Given the description of an element on the screen output the (x, y) to click on. 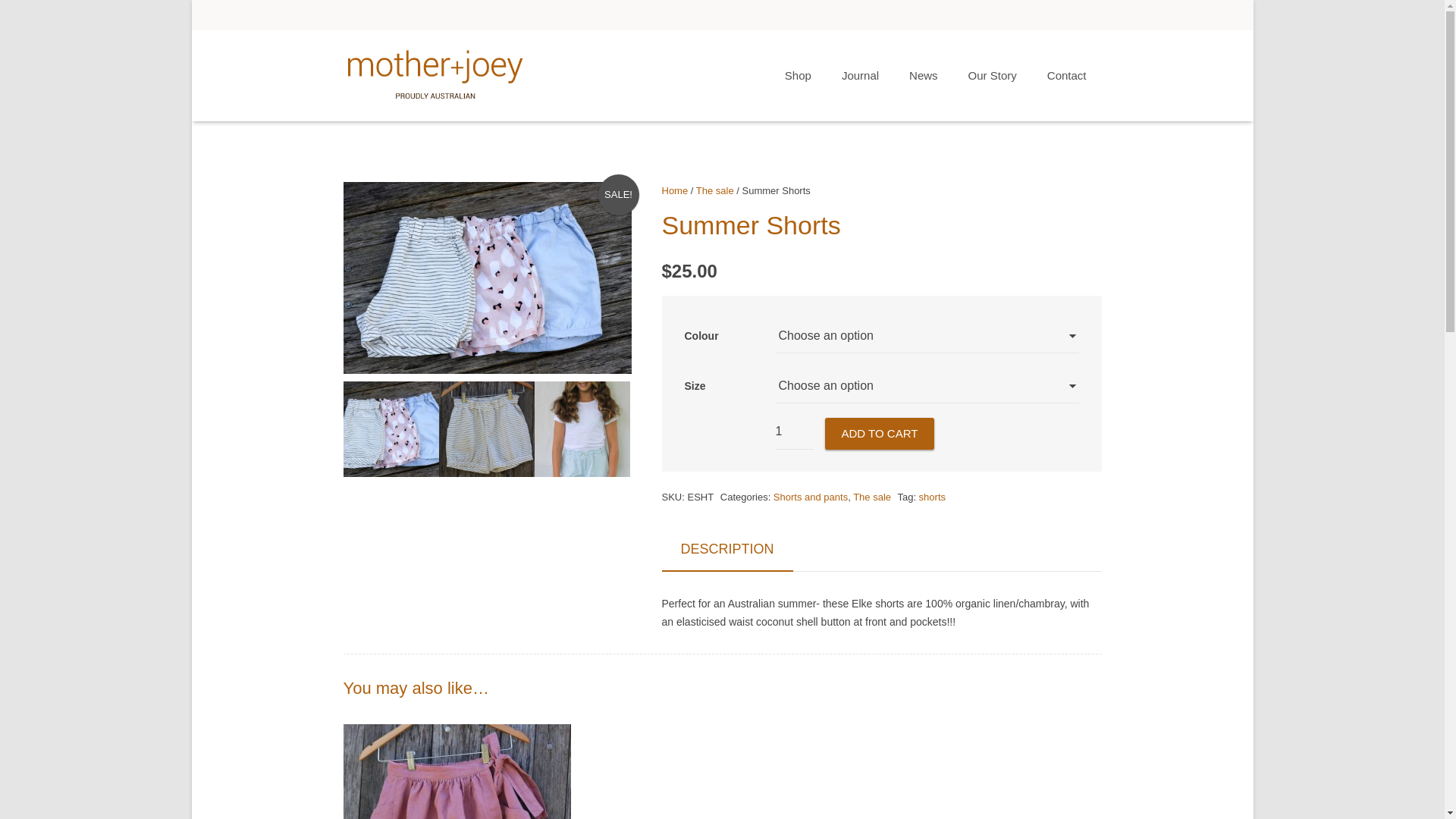
The sale Element type: text (872, 496)
News Element type: text (923, 75)
sshorts Element type: hover (486, 277)
Journal Element type: text (860, 75)
sshorts Element type: hover (390, 428)
Contact Element type: text (1066, 75)
Our Story Element type: text (992, 75)
The sale Element type: text (715, 190)
IMG_0195 Element type: hover (485, 428)
Home Element type: text (674, 190)
Shorts and pants Element type: text (810, 496)
DESCRIPTION Element type: text (726, 548)
ADD TO CART Element type: text (880, 433)
IMG_0083 Element type: hover (581, 428)
Shop Element type: text (797, 75)
shorts Element type: text (932, 496)
Qty Element type: hover (793, 431)
